Given the description of an element on the screen output the (x, y) to click on. 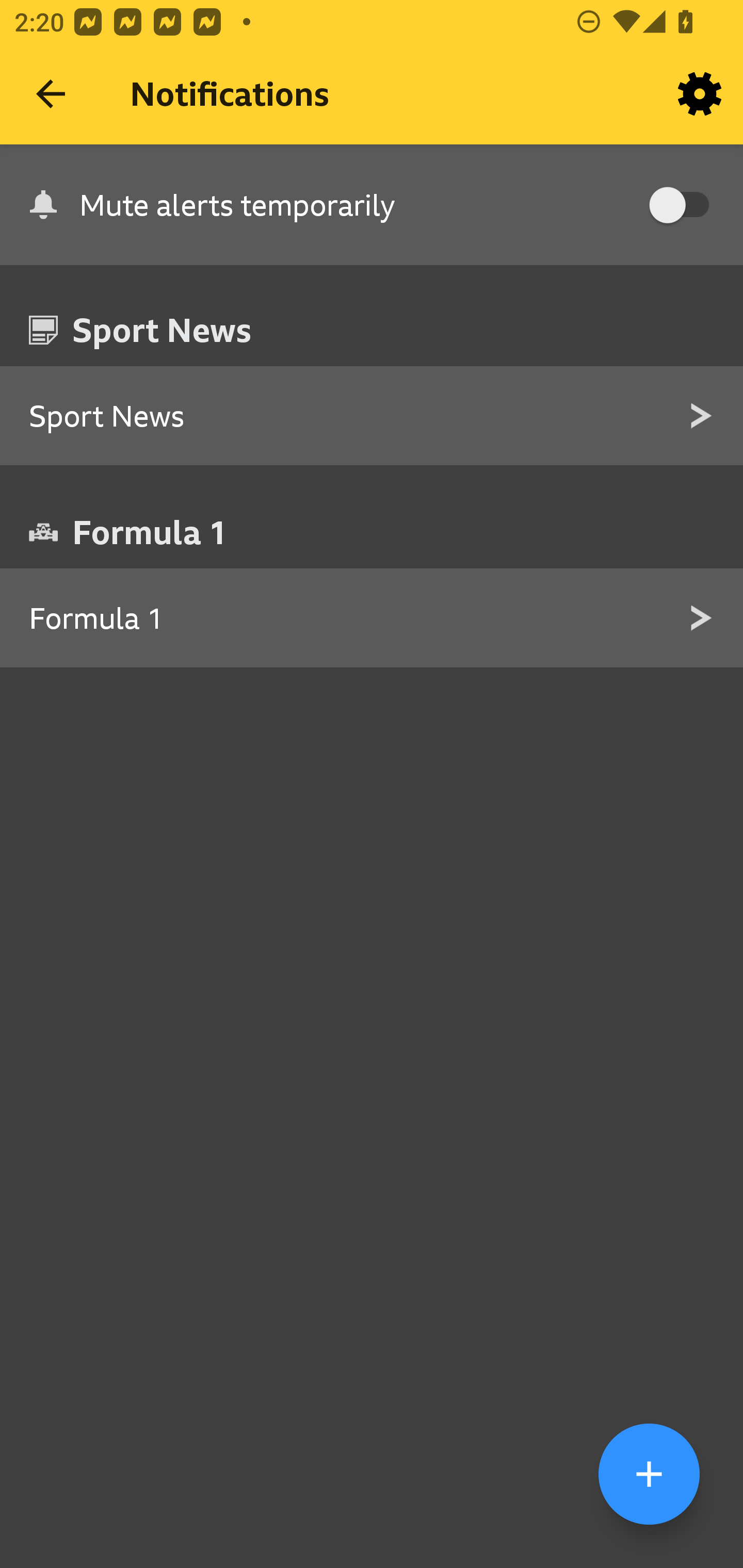
Navigate up (50, 93)
Settings (699, 93)
Sport News (371, 416)
Formula 1 (371, 618)
Add notifications (648, 1473)
